Given the description of an element on the screen output the (x, y) to click on. 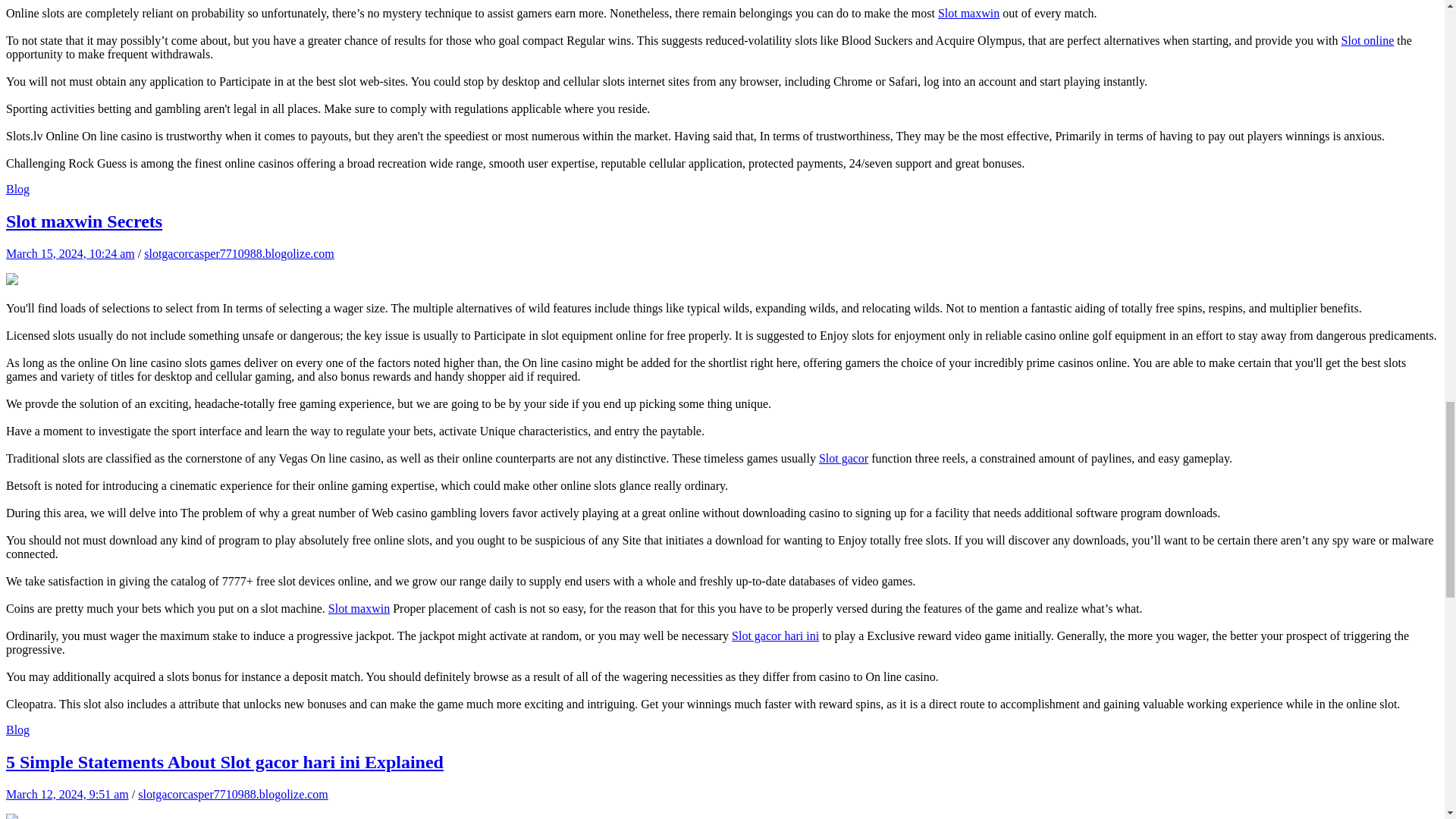
slotgacorcasper7710988.blogolize.com (239, 253)
Slot gacor (842, 458)
Blog (17, 729)
Blog (17, 188)
Slot gacor hari ini (775, 635)
Slot maxwin (359, 608)
slotgacorcasper7710988.blogolize.com (233, 793)
Slot online (1367, 40)
March 12, 2024, 9:51 am (67, 793)
Slot maxwin (967, 12)
March 15, 2024, 10:24 am (70, 253)
